Given the description of an element on the screen output the (x, y) to click on. 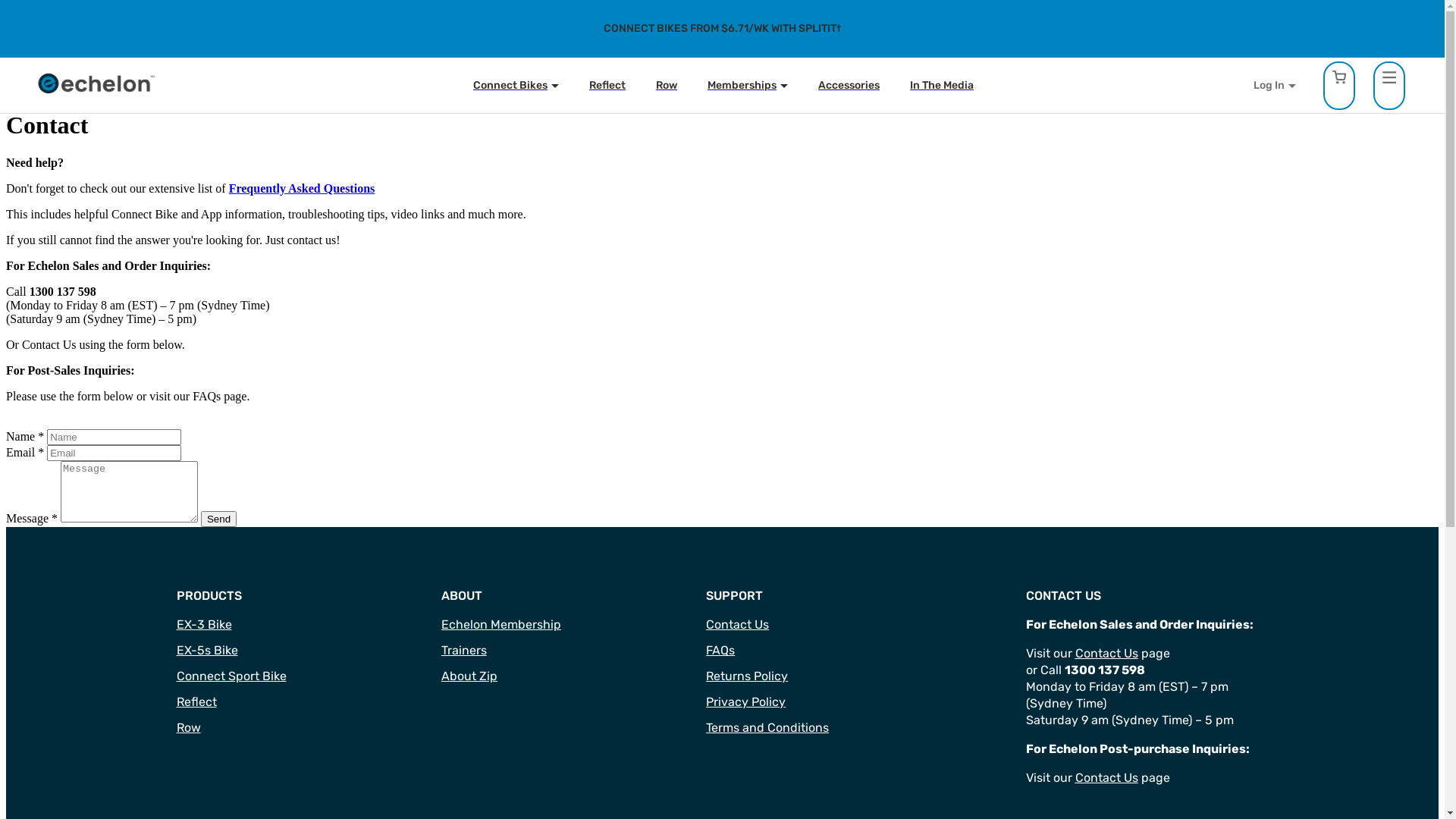
Terms and Conditions Element type: text (767, 727)
Reflect Element type: text (195, 701)
Reflect Element type: text (607, 84)
FAQs Element type: text (720, 650)
Frequently Asked Questions Element type: text (302, 188)
Connect Bikes Element type: text (516, 84)
Connect Sport Bike Element type: text (230, 675)
24 MONTHS INTEREST FREE FINANCE WITH ZIP* Element type: text (722, 28)
EX-3 Bike Element type: text (203, 624)
Returns Policy Element type: text (746, 675)
EX-5s Bike Element type: text (206, 650)
Memberships Element type: text (747, 84)
Accessories Element type: text (848, 84)
Privacy Policy Element type: text (745, 701)
Contact Us Element type: text (1106, 777)
Contact Us Element type: text (737, 624)
Row Element type: text (187, 727)
Echelon Membership Element type: text (501, 624)
In The Media Element type: text (941, 84)
Contact Us Element type: text (1106, 653)
Send Element type: text (218, 519)
Row Element type: text (666, 84)
About Zip Element type: text (469, 675)
Trainers Element type: text (463, 650)
